Given the description of an element on the screen output the (x, y) to click on. 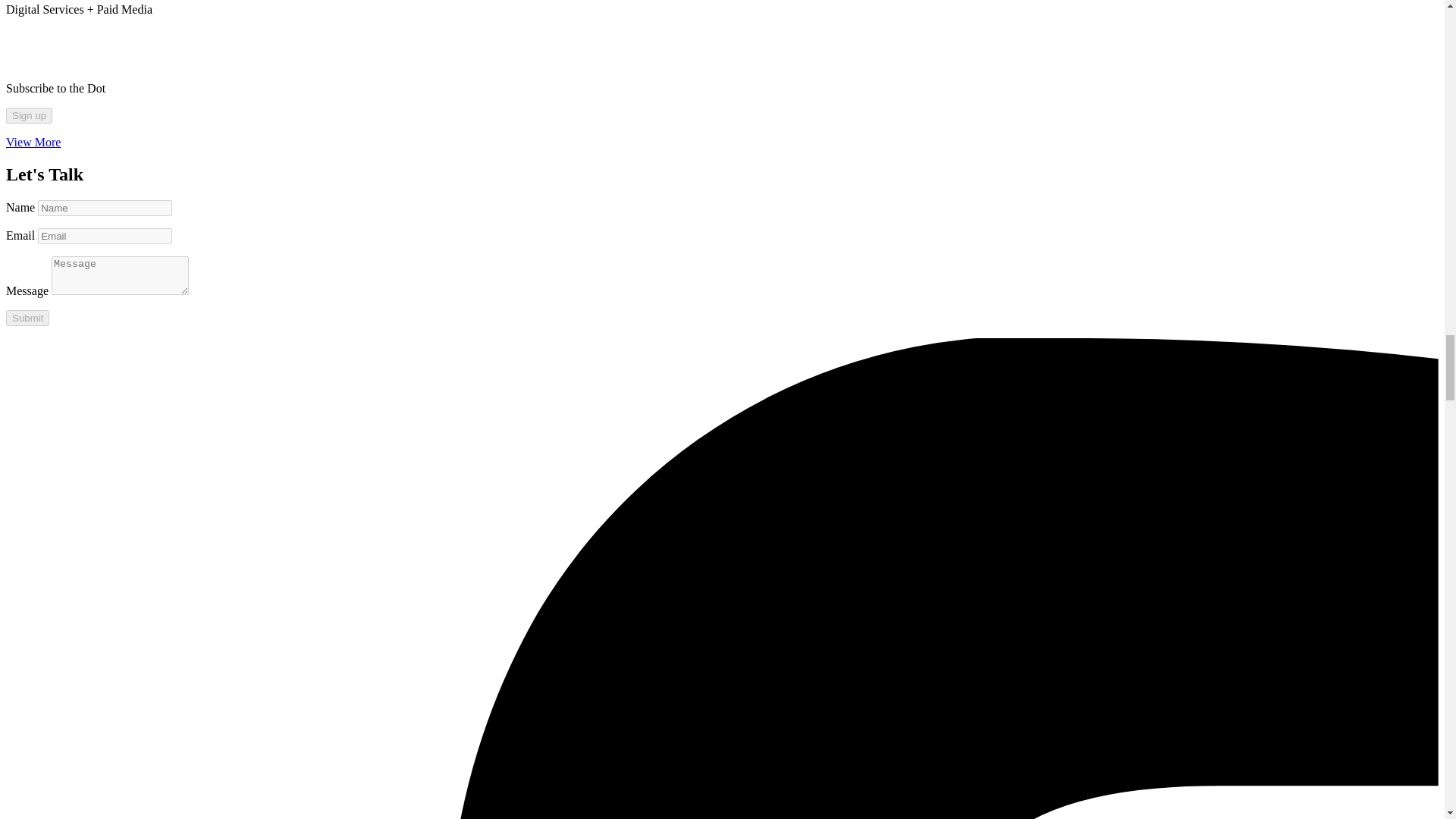
Submit (27, 317)
Submit (27, 317)
Sign up (28, 115)
View More (33, 141)
